Given the description of an element on the screen output the (x, y) to click on. 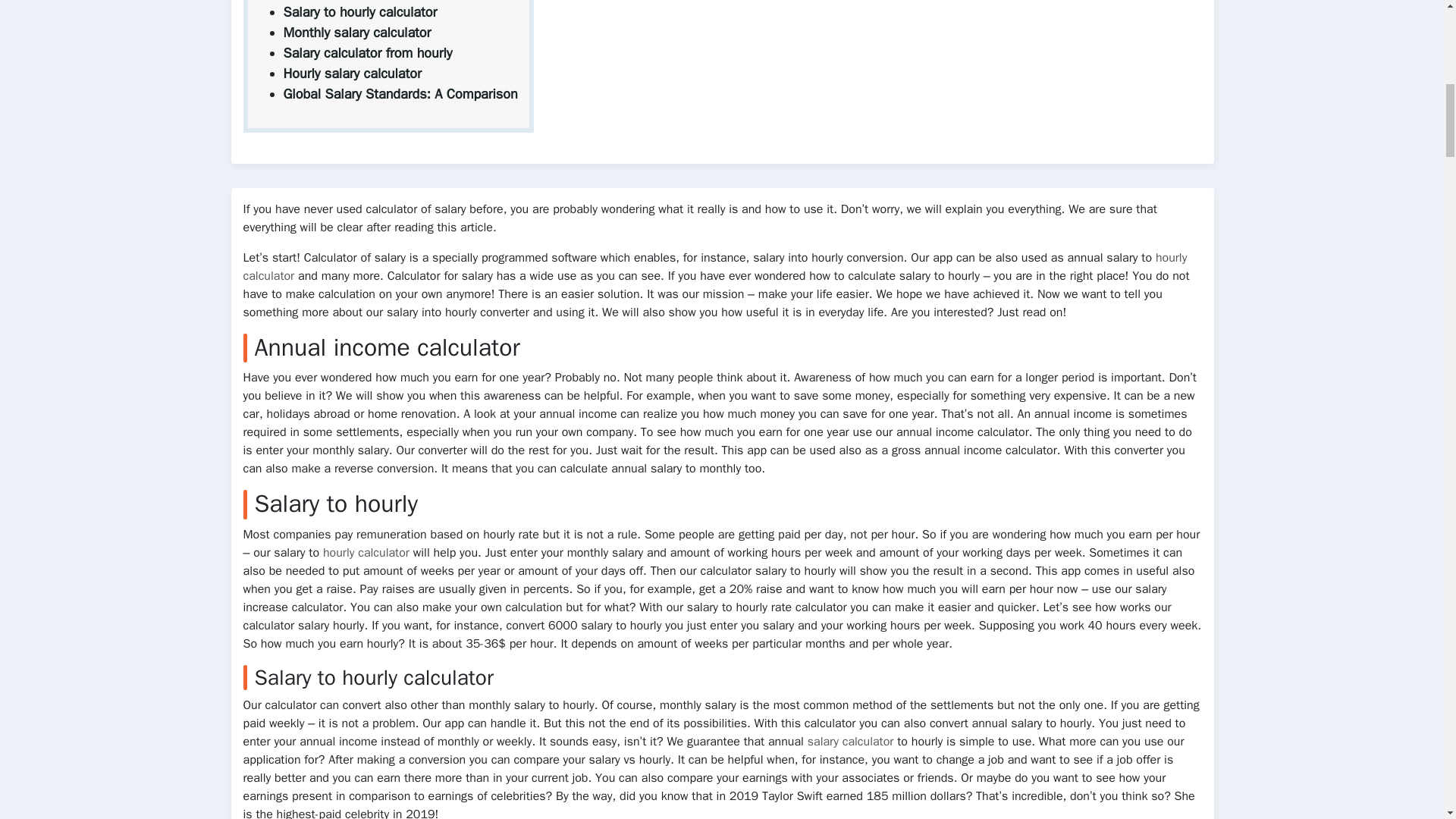
Salary calculator from hourly (367, 53)
salary calculator (850, 741)
hourly calculator (714, 266)
Global Salary Standards: A Comparison (400, 93)
hourly calculator (366, 552)
Salary to hourly calculator (360, 12)
Hourly salary calculator (352, 73)
Monthly salary calculator (356, 32)
